Given the description of an element on the screen output the (x, y) to click on. 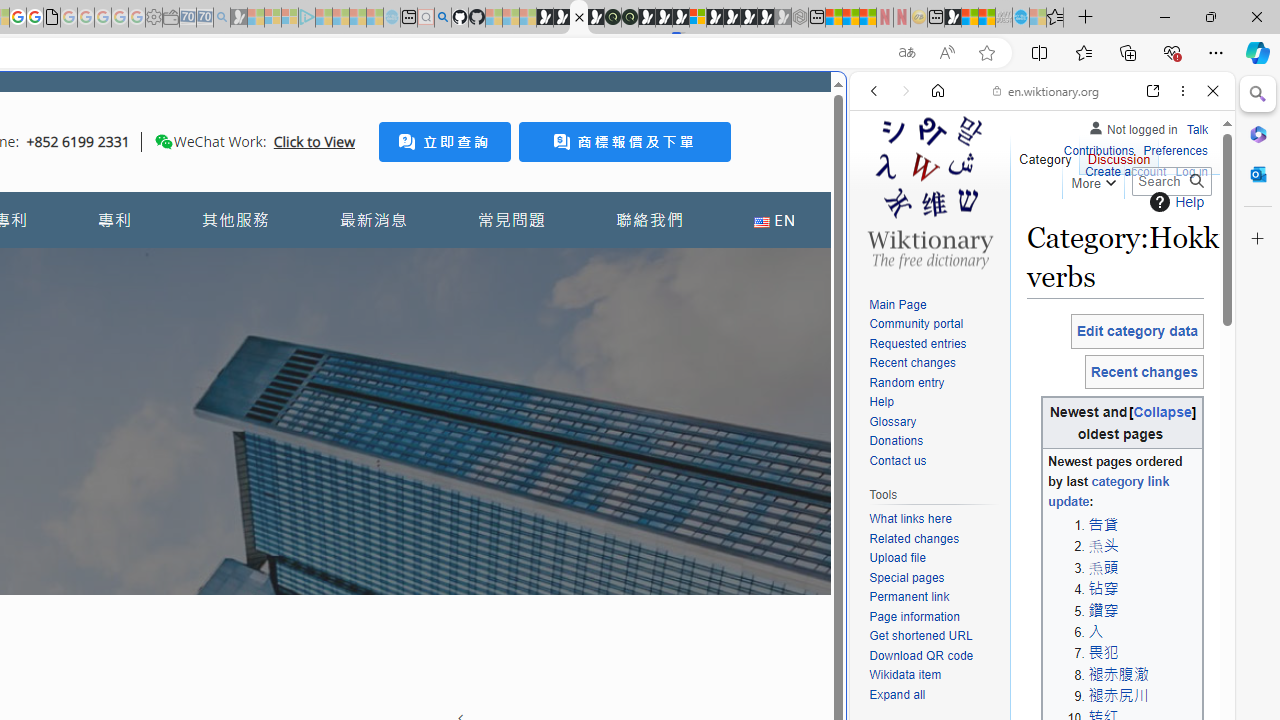
Related changes (934, 539)
Main Page (897, 303)
Wikidata item (905, 675)
Wikidata item (934, 676)
Contact us (897, 460)
